Given the description of an element on the screen output the (x, y) to click on. 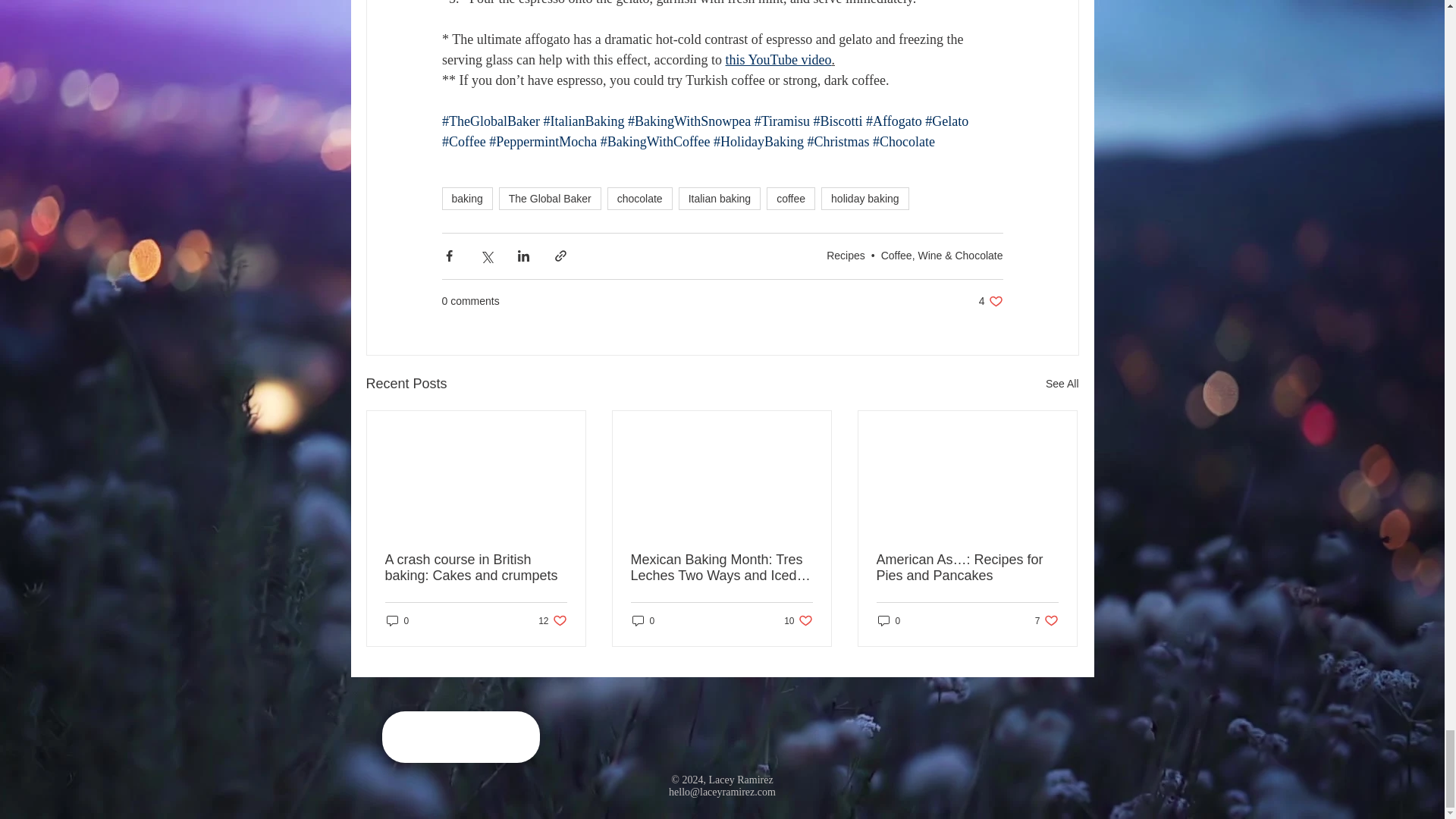
this YouTube video (778, 59)
